Given the description of an element on the screen output the (x, y) to click on. 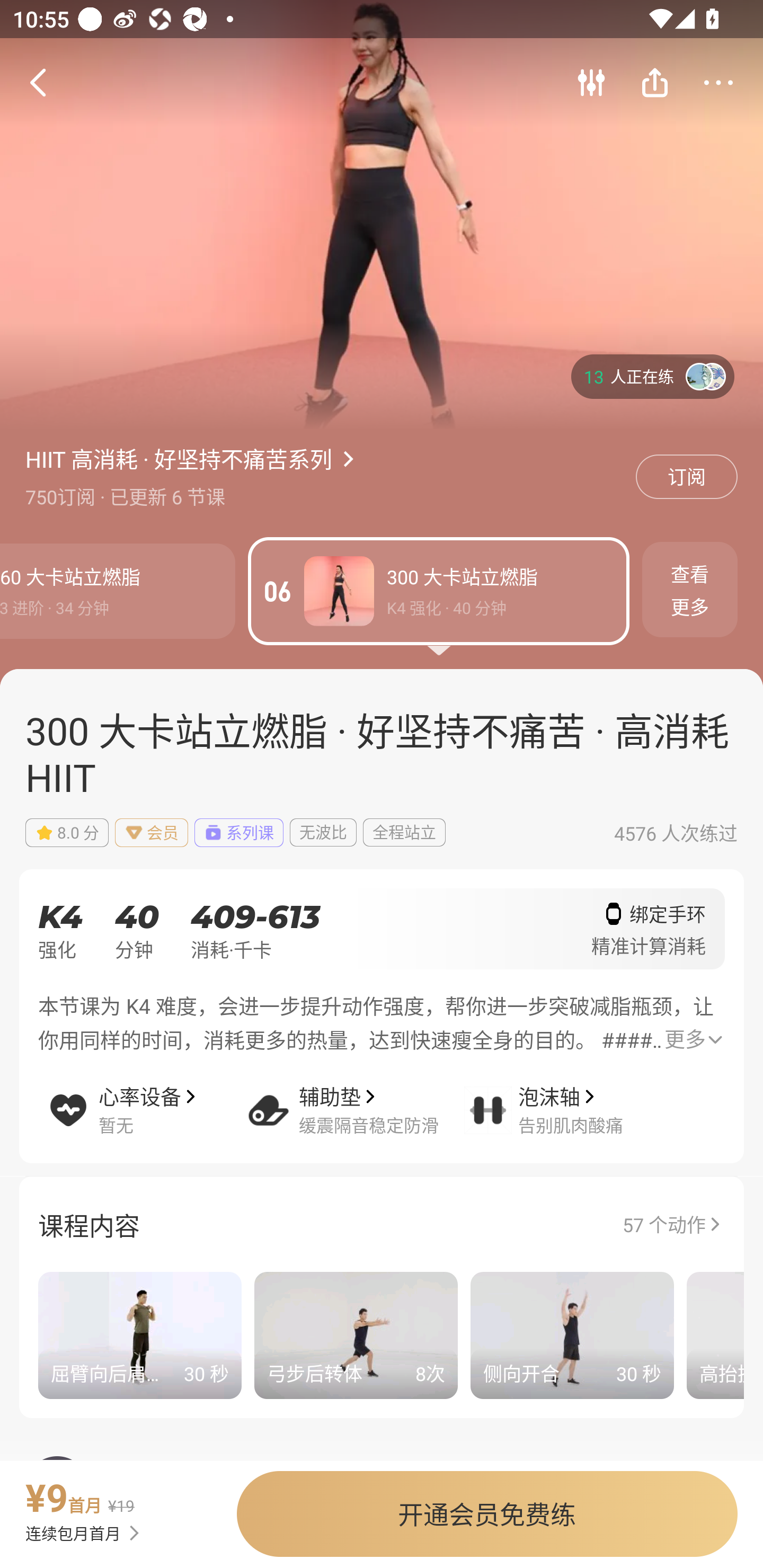
13 人正在练 (652, 376)
HIIT 高消耗 · 好坚持不痛苦系列 (178, 458)
订阅 (686, 476)
查看
更多 (689, 597)
06 300 大卡站立燃脂 K4 强化 · 40 分钟 (438, 590)
260 大卡站立燃脂 K3 进阶 · 34 分钟 (117, 591)
绑定手环 精准计算消耗 (648, 935)
更多 (692, 1039)
心率设备 暂无 (144, 1097)
辅助垫 缓震隔音稳定防滑 (353, 1097)
泡沫轴 告别肌肉酸痛 (563, 1097)
课程内容 57 个动作 (381, 1223)
¥9 首月 ¥19 连续包月首月 (110, 1507)
